Given the description of an element on the screen output the (x, y) to click on. 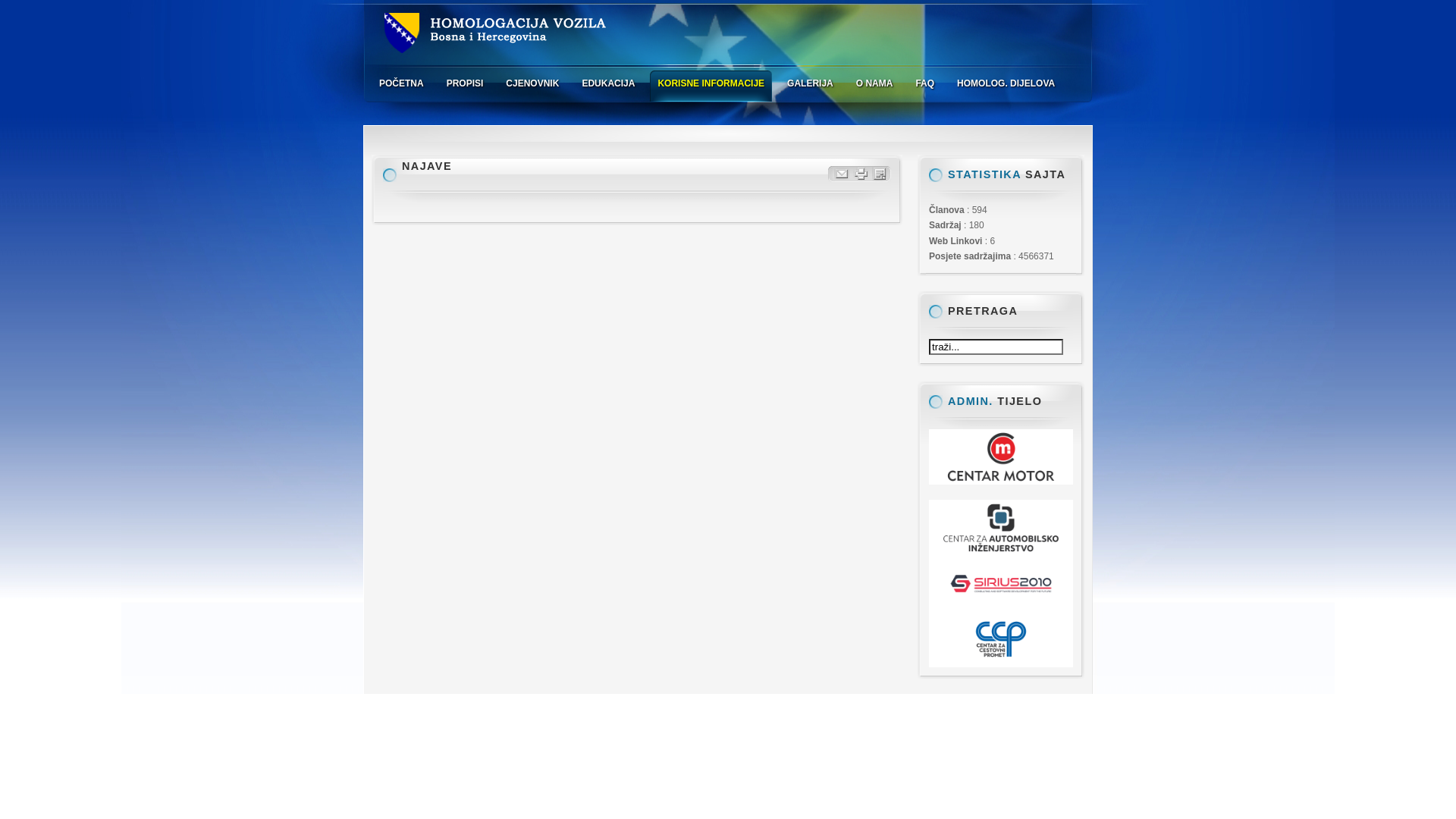
FAQ Element type: text (928, 82)
GALERIJA Element type: text (813, 82)
HOMOLOG. DIJELOVA Element type: text (1009, 82)
O NAMA Element type: text (878, 82)
CJENOVNIK Element type: text (536, 82)
KORISNE INFORMACIJE Element type: text (714, 82)
EDUKACIJA Element type: text (611, 82)
PROPISI Element type: text (468, 82)
